Given the description of an element on the screen output the (x, y) to click on. 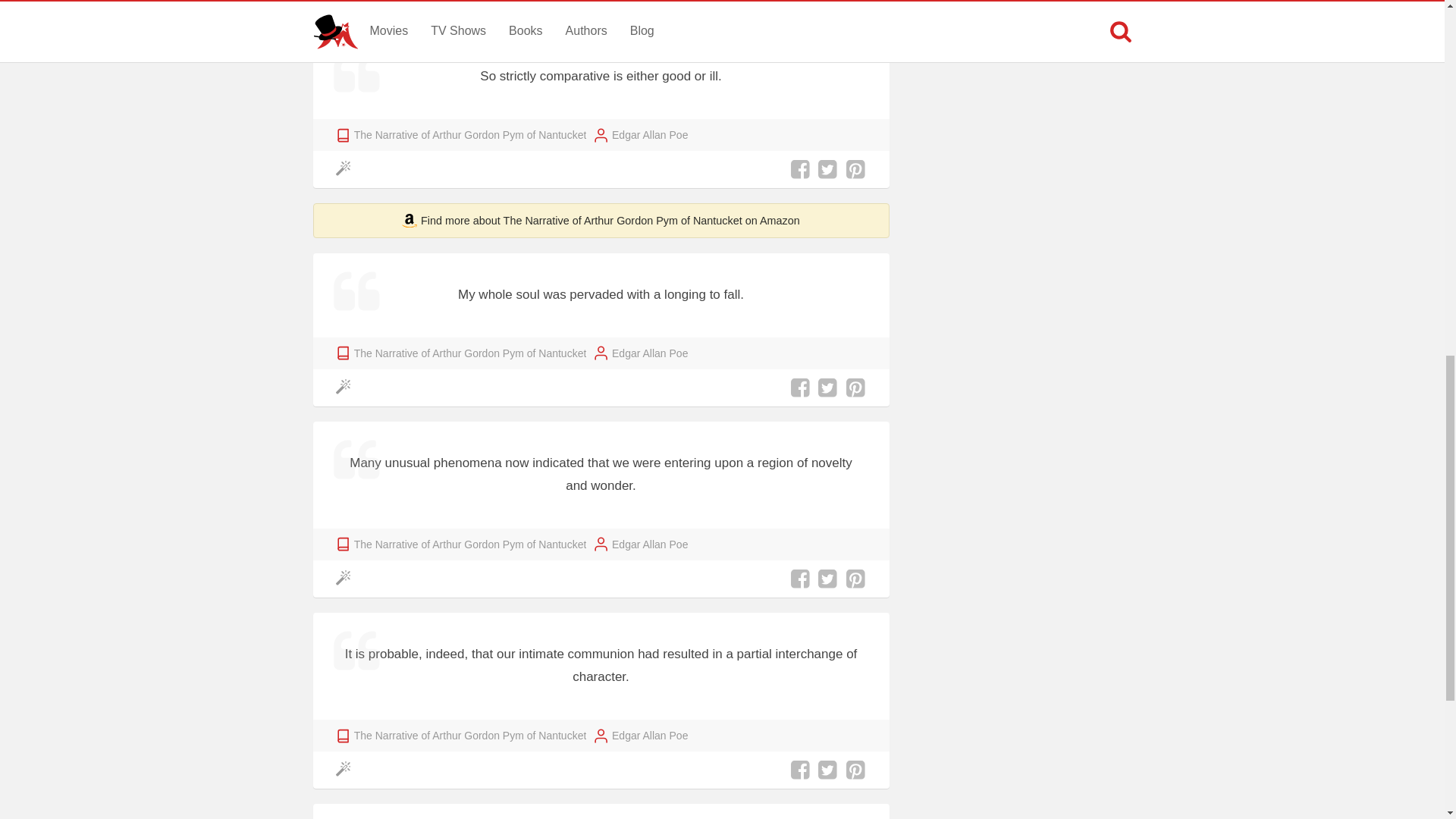
The Narrative of Arthur Gordon Pym of Nantucket (469, 352)
Edgar Allan Poe (649, 352)
Edgar Allan Poe (649, 134)
Do Some Magic! (345, 169)
My whole soul was pervaded with a longing to fall. (600, 295)
Do Some Magic! (345, 6)
The Narrative of Arthur Gordon Pym of Nantucket (469, 134)
So strictly comparative is either good or ill. (600, 76)
Do Some Magic! (345, 770)
Do Some Magic! (345, 387)
Do Some Magic! (345, 578)
